Given the description of an element on the screen output the (x, y) to click on. 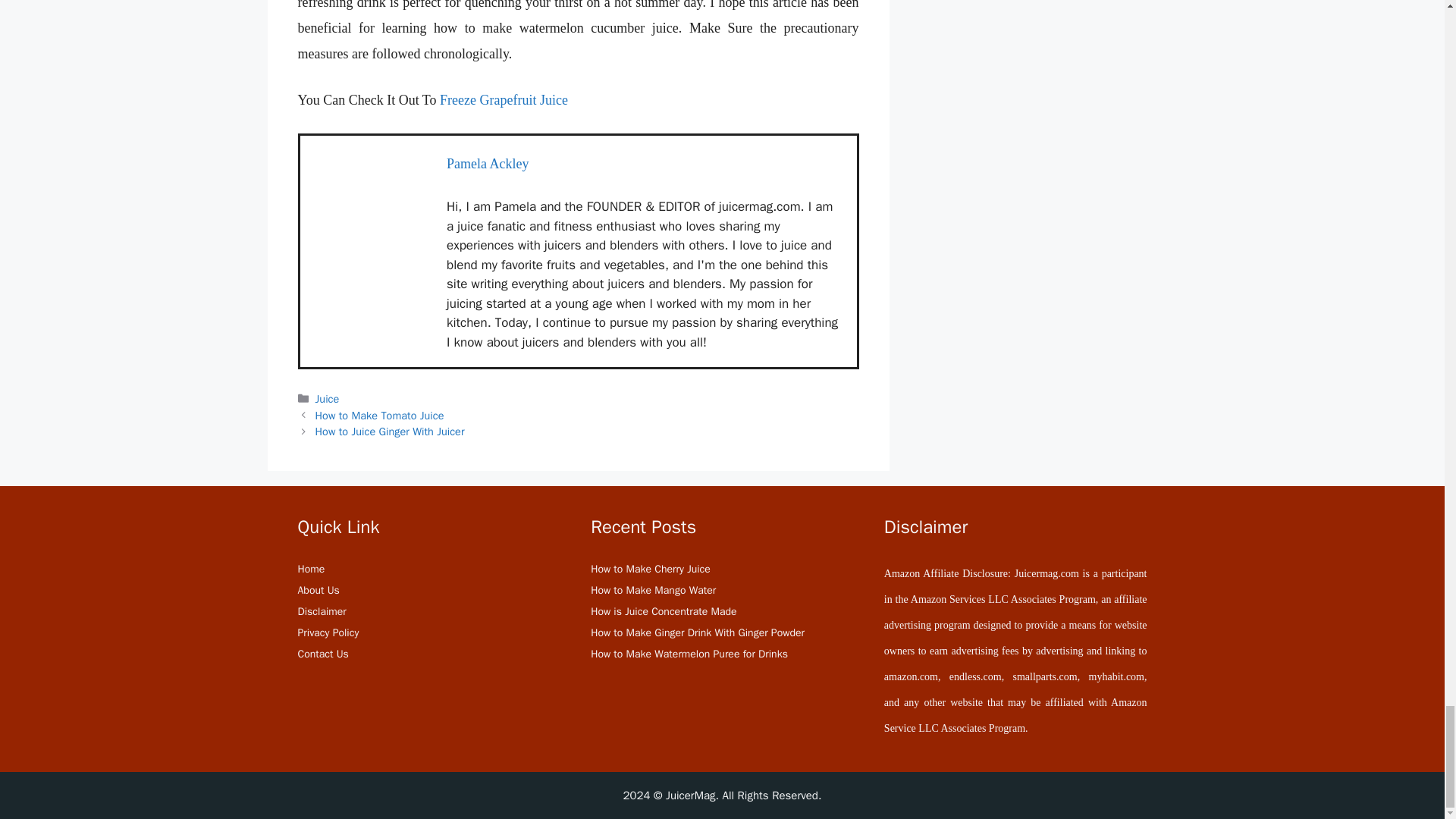
How to Juice Ginger With Juicer (389, 431)
Freeze Grapefruit Juice (503, 99)
How to Make Tomato Juice  (380, 415)
Pamela Ackley (487, 163)
Juice (327, 398)
